Given the description of an element on the screen output the (x, y) to click on. 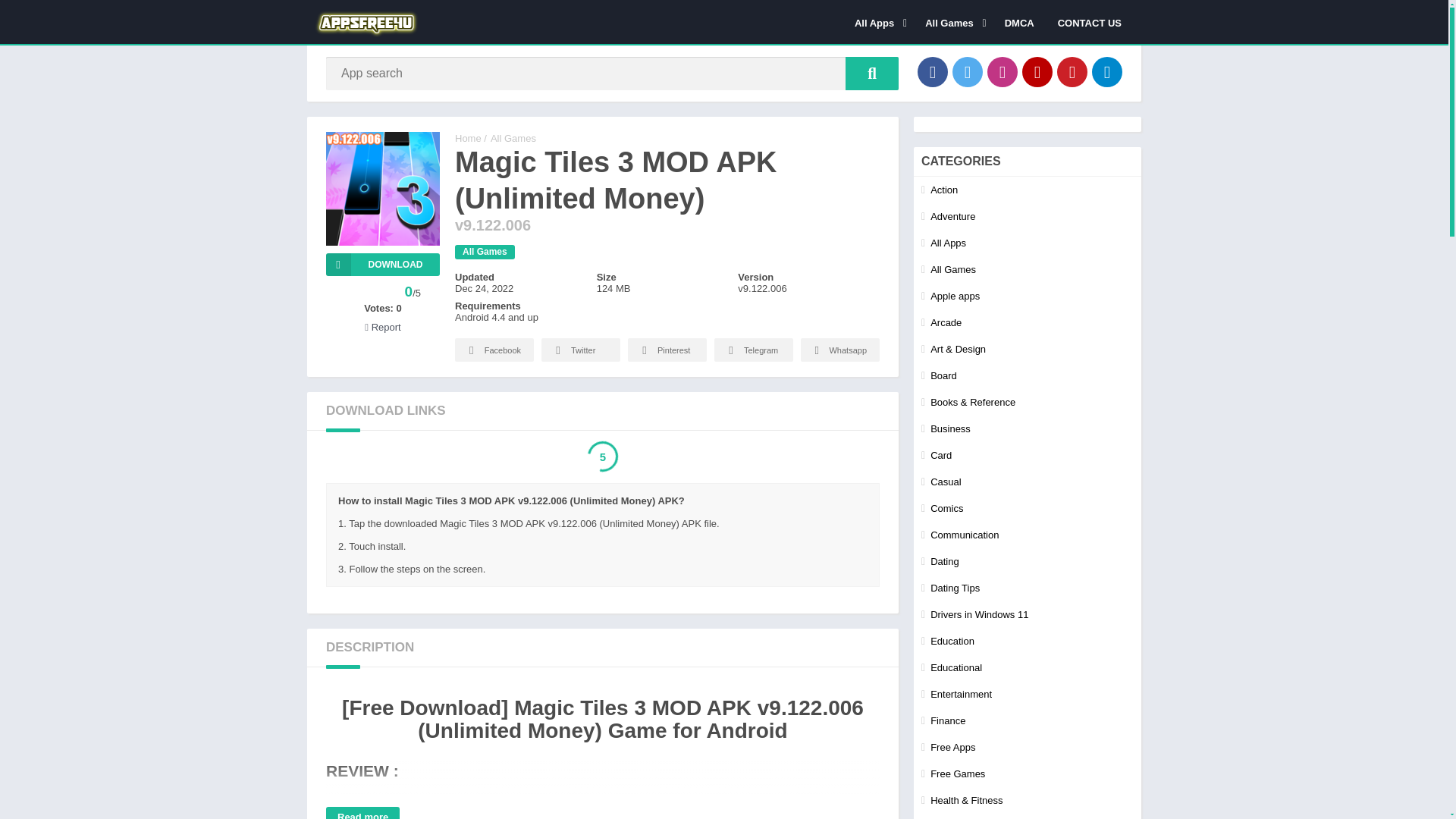
Instagram (1002, 71)
CONTACT US (1089, 22)
Home (467, 138)
Facebook (494, 349)
Download (382, 264)
YouTube (1037, 71)
Telegram (1107, 71)
Telegram (753, 349)
Twitter (967, 71)
Pinterest (1072, 71)
